Given the description of an element on the screen output the (x, y) to click on. 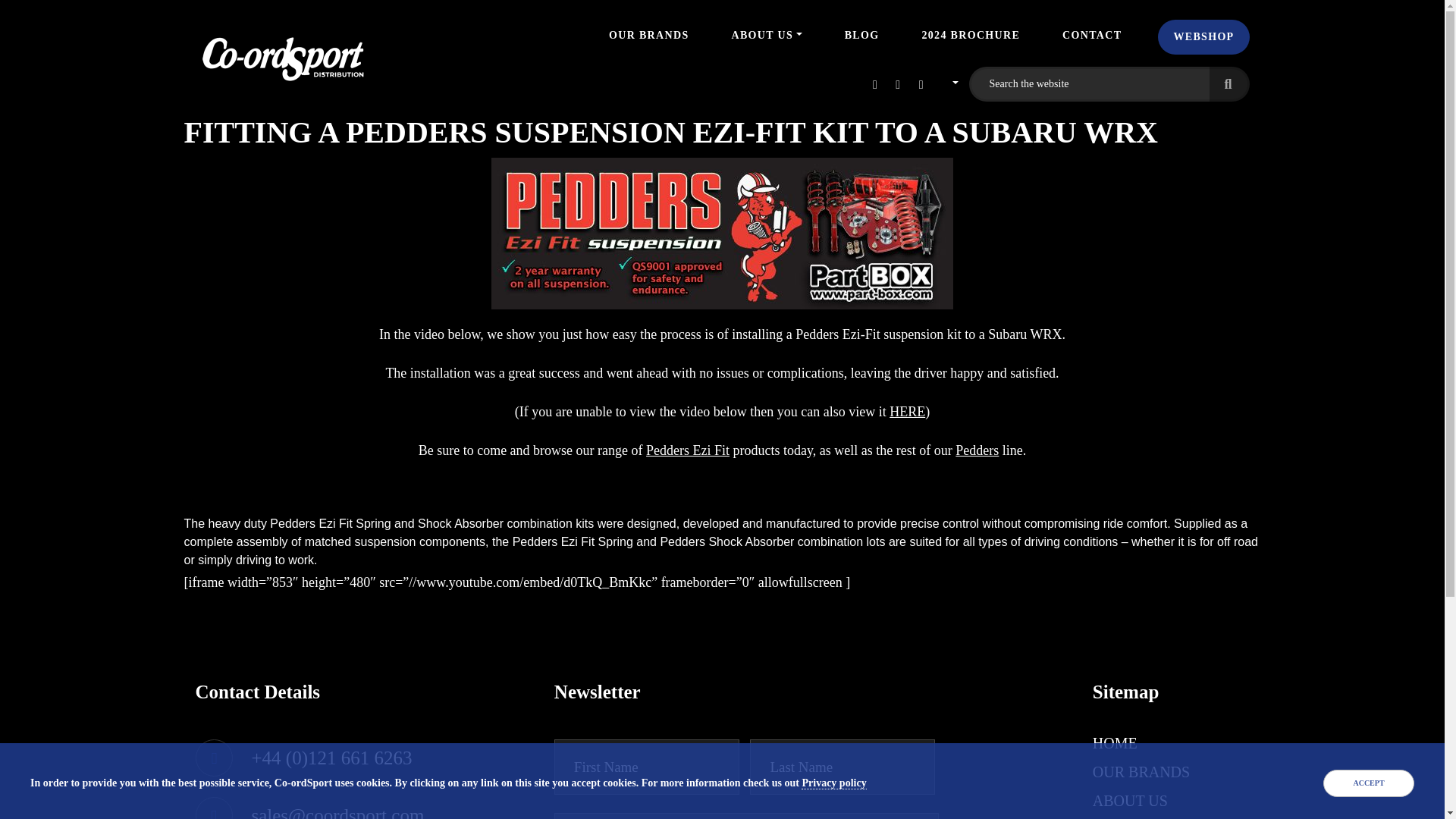
ABOUT US (766, 35)
HERE (906, 411)
ABOUT US (1130, 801)
Pedders Ezi Fit (687, 450)
OUR BRANDS (648, 35)
Privacy policy (834, 783)
CONTACT (1128, 818)
OUR BRANDS (1141, 771)
CONTACT (1091, 35)
Our Brands (648, 35)
